Given the description of an element on the screen output the (x, y) to click on. 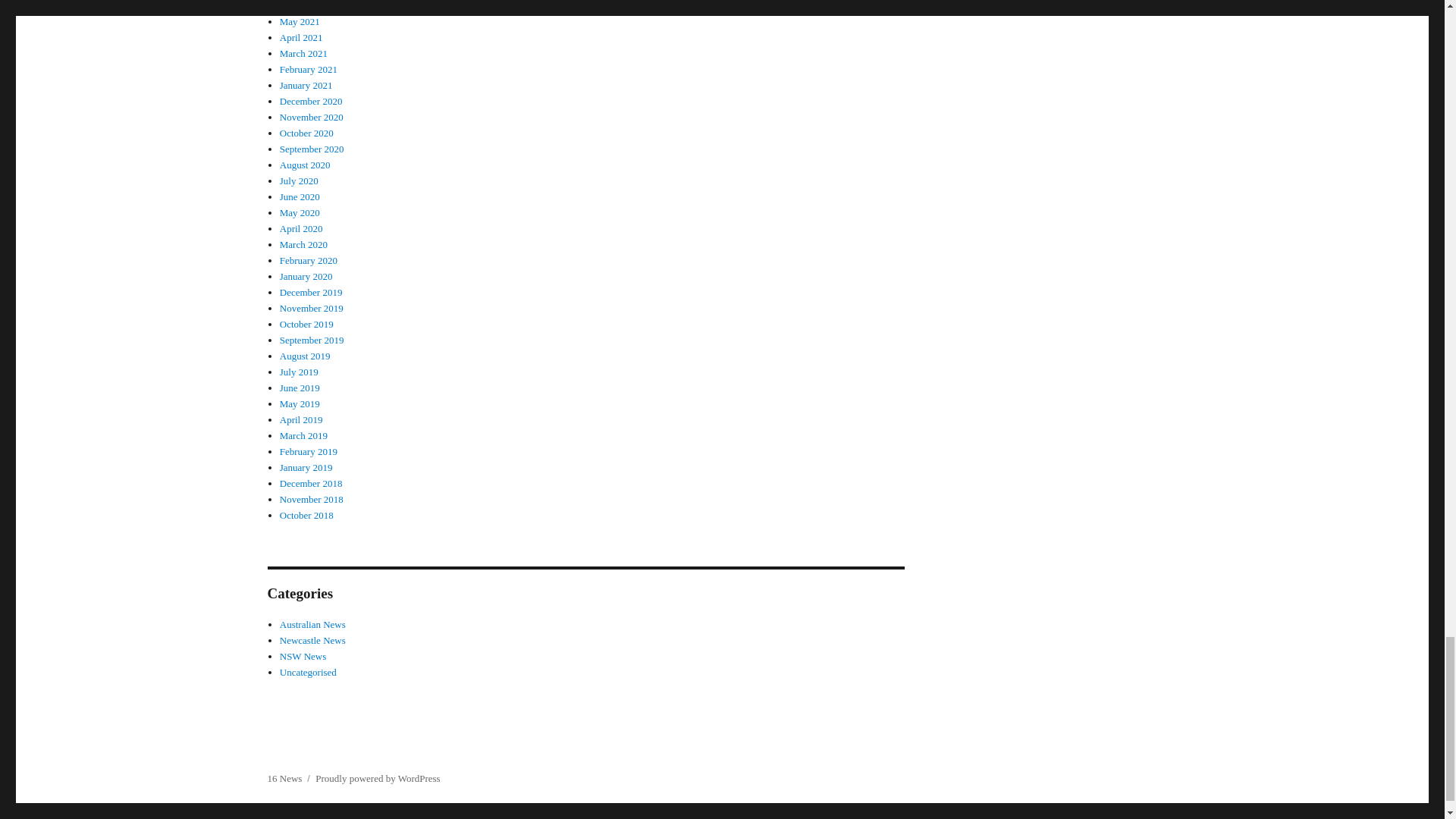
News Happening in NSW (302, 655)
All the news from around Australia (312, 624)
All the news happening in the Newcastle and Hunter Region (312, 640)
